Given the description of an element on the screen output the (x, y) to click on. 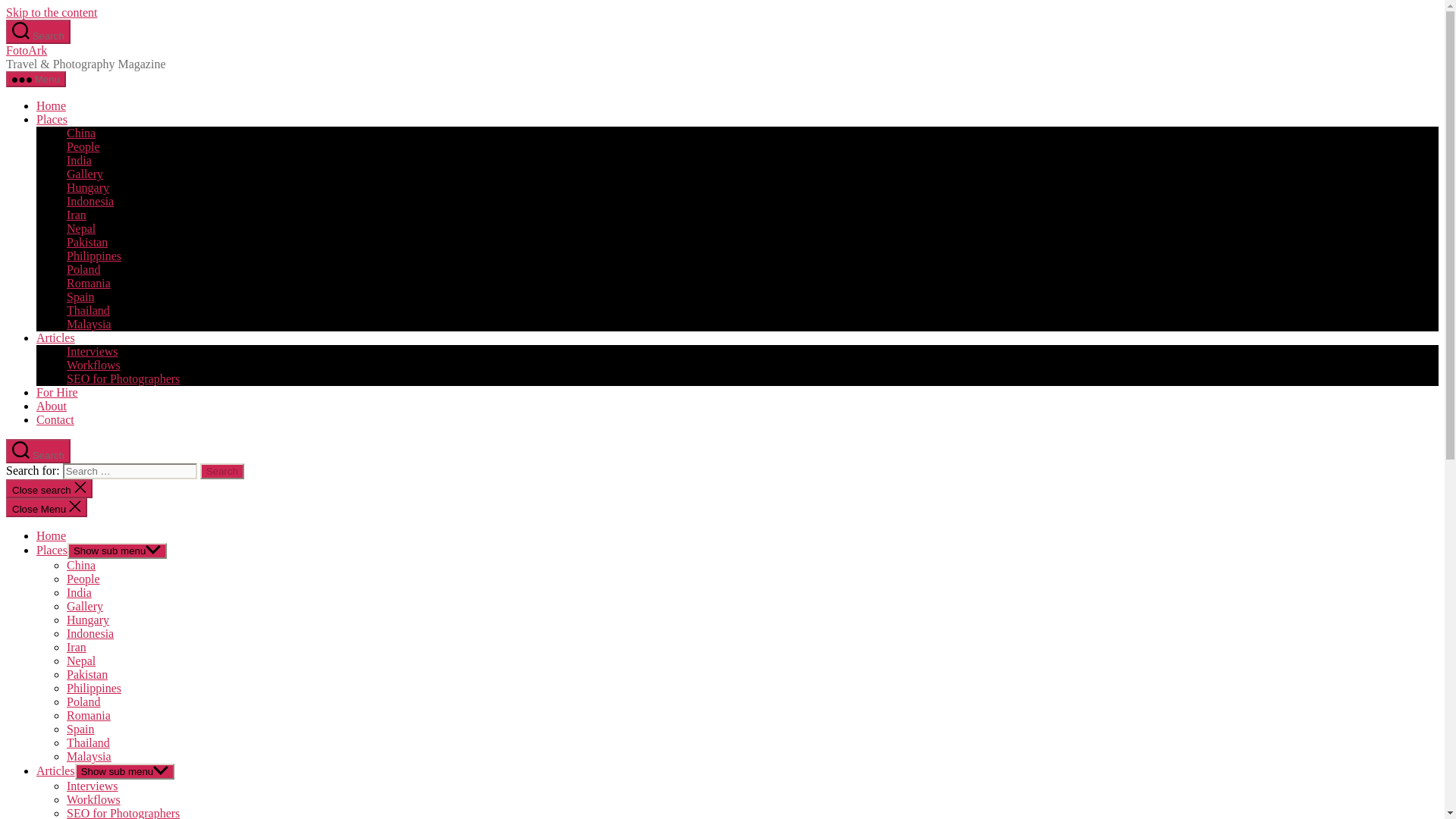
Close search (49, 488)
Interviews (91, 350)
Search (37, 450)
about fotoark (51, 405)
Home (50, 535)
FotoArk (25, 50)
Search (37, 31)
Menu (35, 78)
Spain (80, 296)
Philippines (93, 255)
Nepal (81, 228)
About (51, 405)
Show sub menu (116, 550)
Gallery (84, 173)
Poland (83, 269)
